Given the description of an element on the screen output the (x, y) to click on. 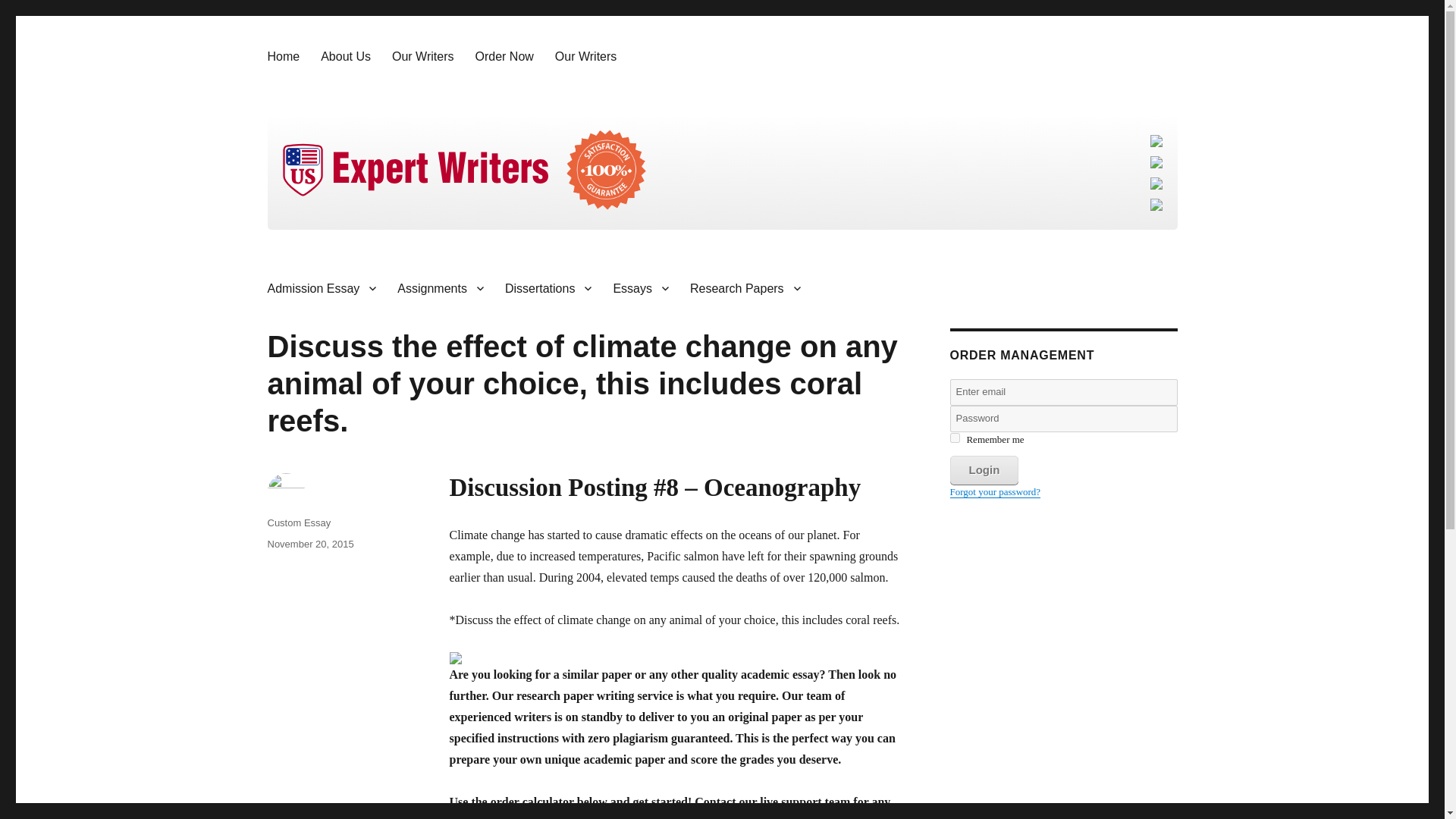
Click to Order (676, 657)
Recover password (995, 491)
on (954, 438)
click to Login (983, 469)
Our Writers (585, 56)
Our Writers (422, 56)
Essays (640, 287)
Research Papers (744, 287)
Dissertations (548, 287)
About Us (345, 56)
